Given the description of an element on the screen output the (x, y) to click on. 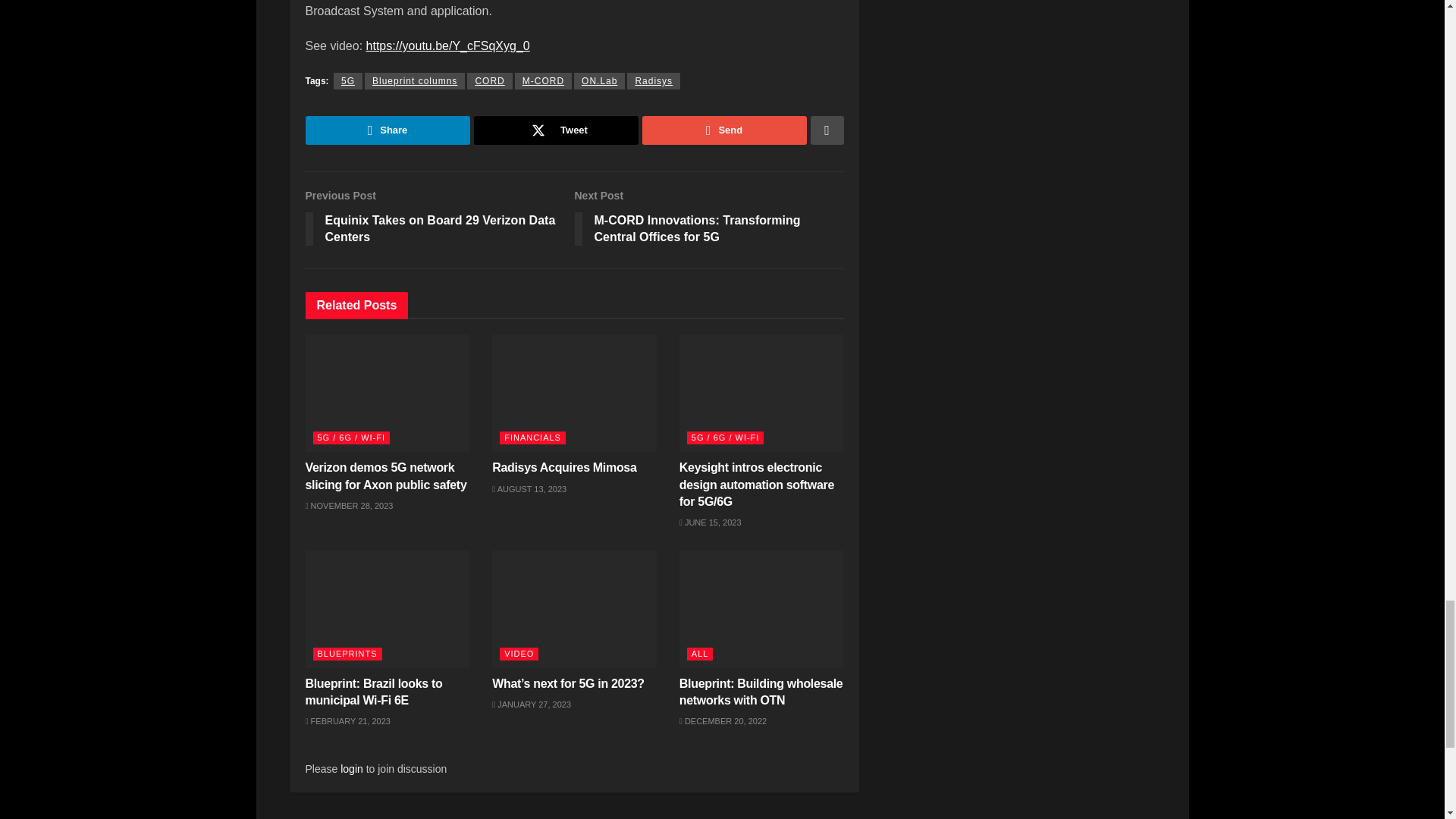
5G (347, 80)
